Given the description of an element on the screen output the (x, y) to click on. 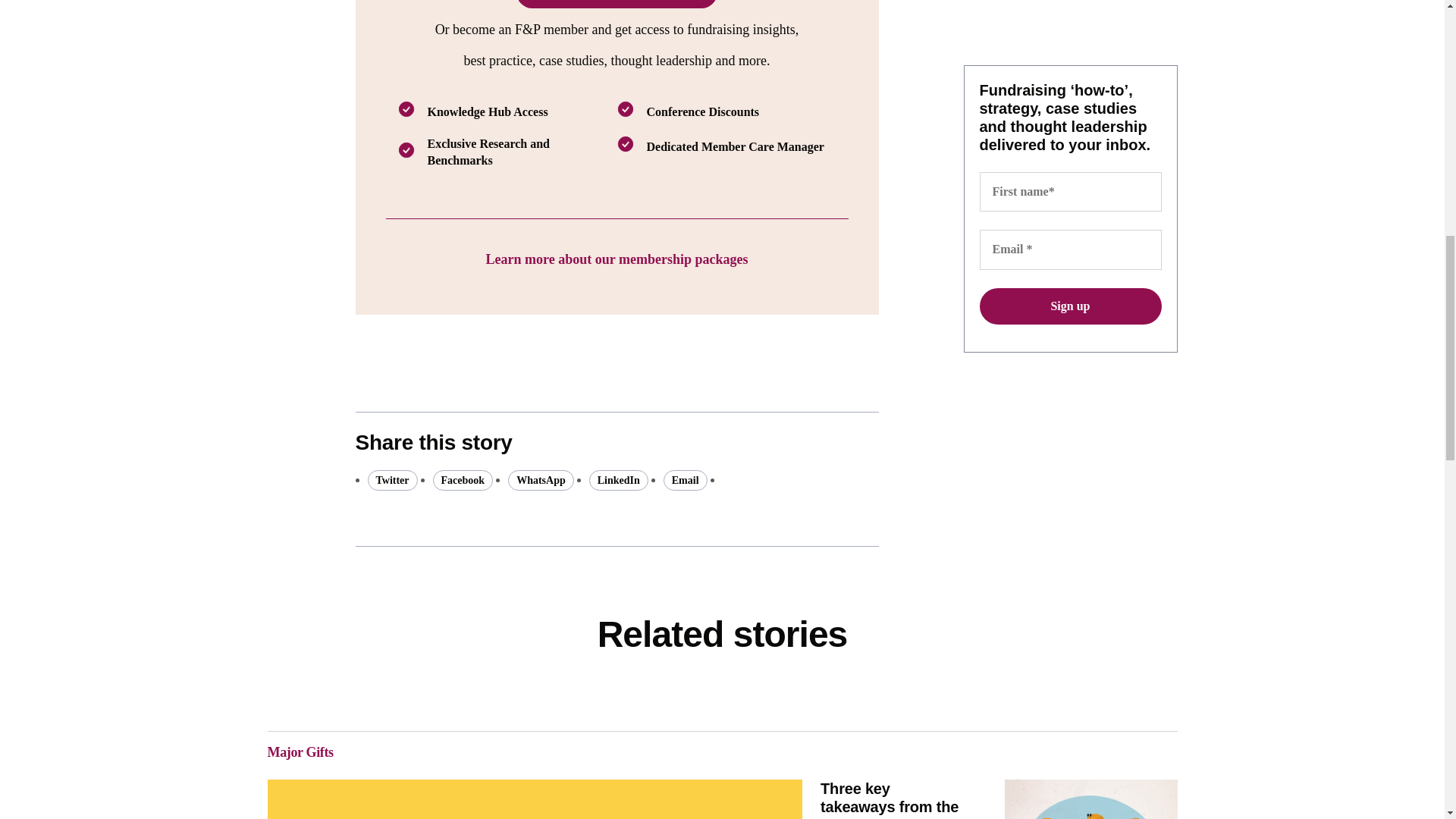
Click to share on Twitter (391, 480)
Click to share on WhatsApp (540, 480)
Click to share on Facebook (462, 480)
Click to email a link to a friend (685, 480)
Click to share on LinkedIn (618, 480)
